Given the description of an element on the screen output the (x, y) to click on. 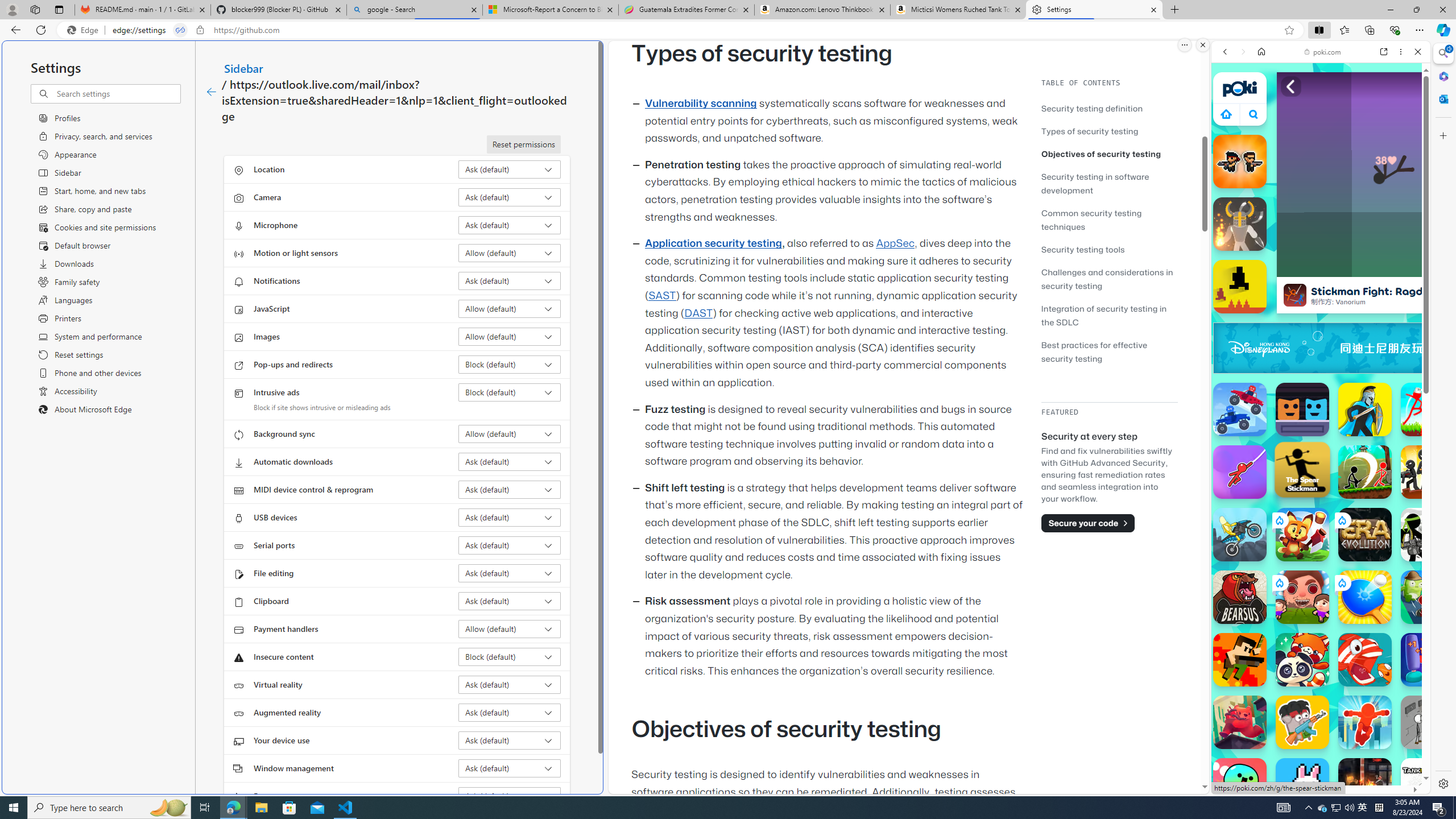
War of Sticks (1364, 409)
Stickman Archero Fight (1364, 471)
Location Ask (default) (509, 169)
Sports Games (1320, 379)
Best practices for effective security testing (1109, 351)
Io Games (1320, 351)
Stickman Parkour 3 (1427, 409)
Stickman Parkour 3 Stickman Parkour 3 (1427, 409)
Serial ports Ask (default) (509, 545)
Hills of Steel (1253, 574)
Tank Trouble Tank Trouble (1427, 784)
Personal Profile (12, 9)
Zombie Rush (1239, 161)
